Given the description of an element on the screen output the (x, y) to click on. 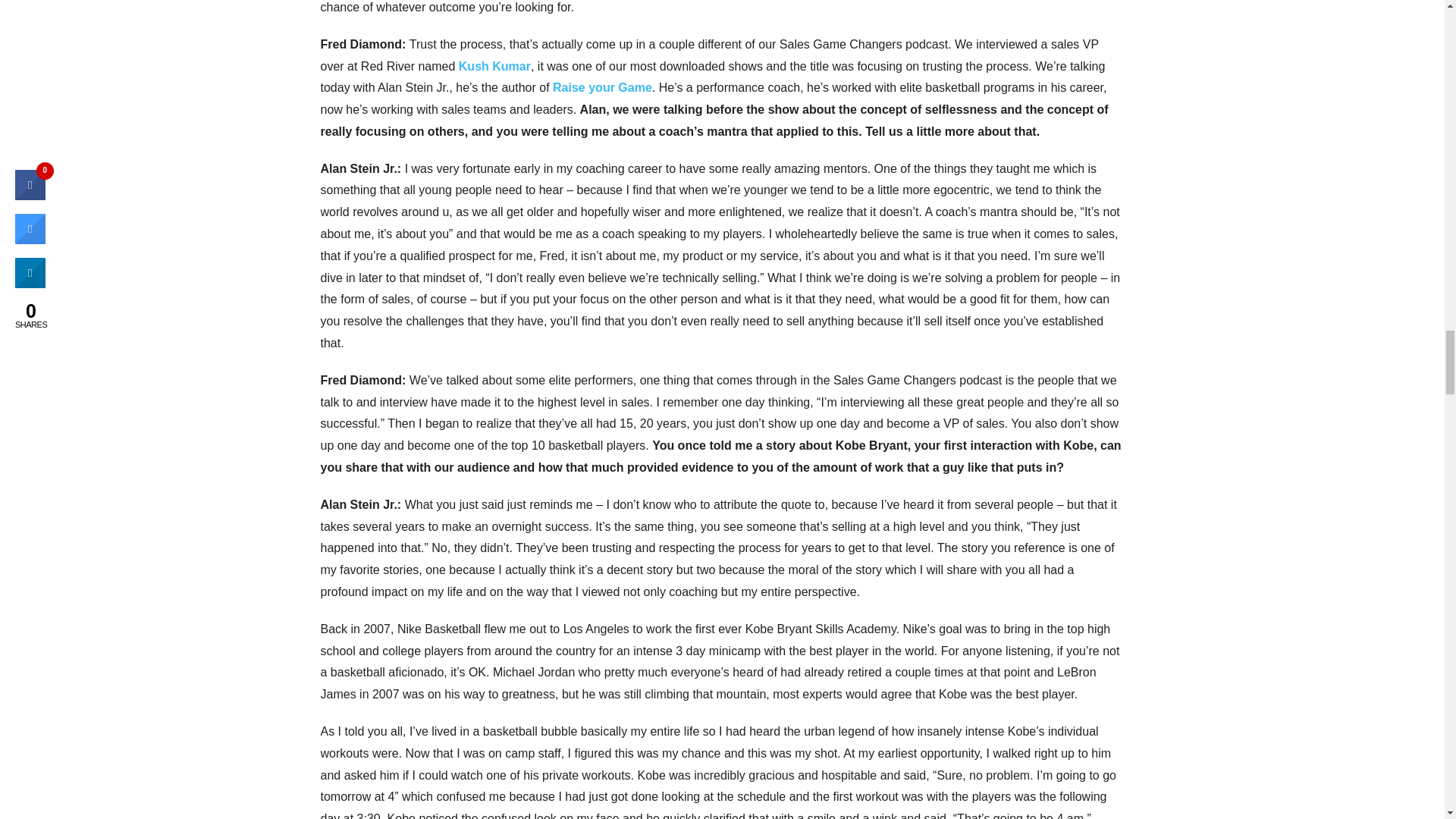
Kush Kumar (494, 65)
Raise your Game (602, 87)
